Given the description of an element on the screen output the (x, y) to click on. 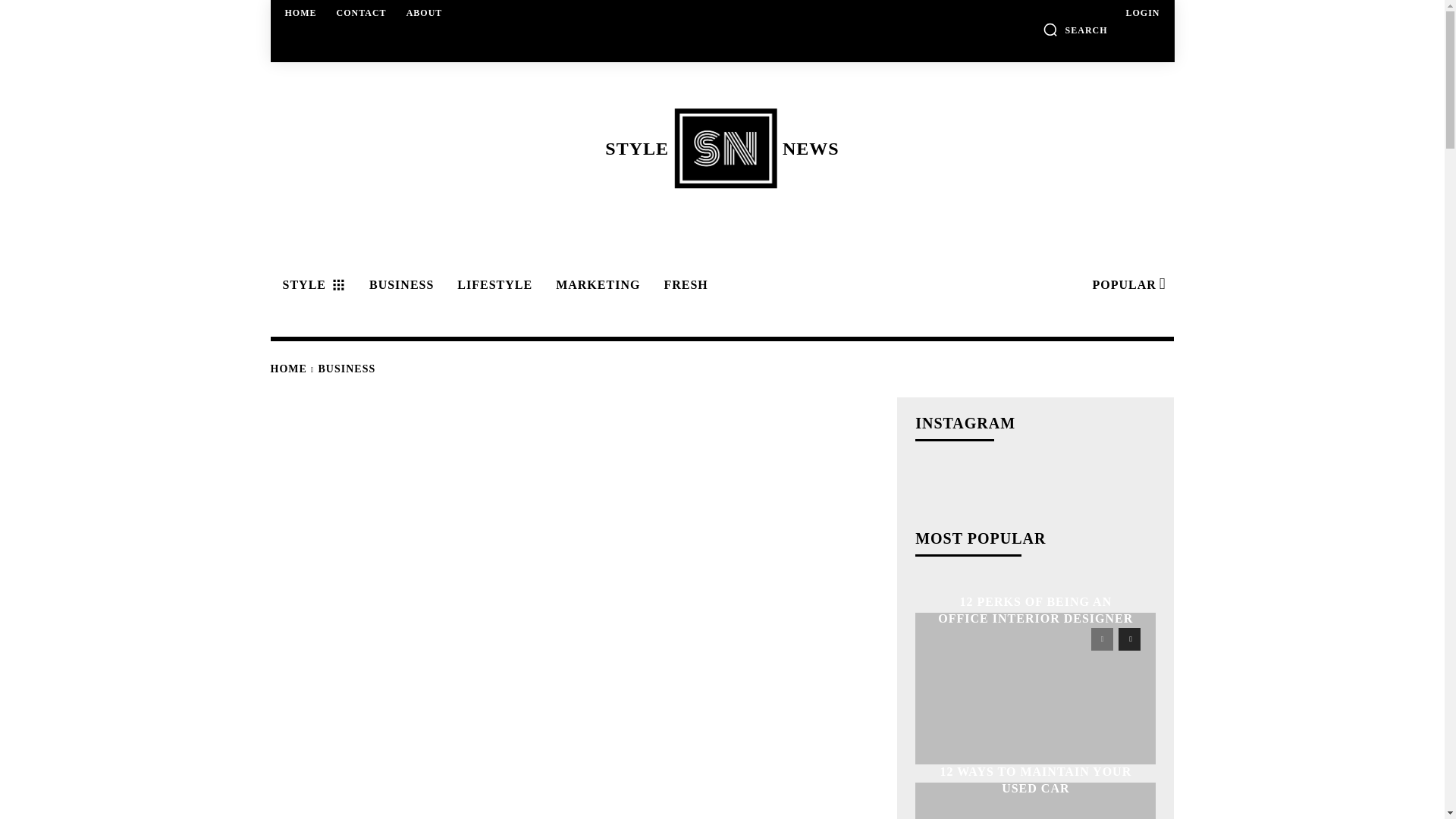
CONTACT (361, 12)
STYLE (310, 285)
HOME (301, 12)
LOGIN (721, 148)
ABOUT (1141, 12)
POPULAR (423, 12)
SEARCH (1126, 285)
